Given the description of an element on the screen output the (x, y) to click on. 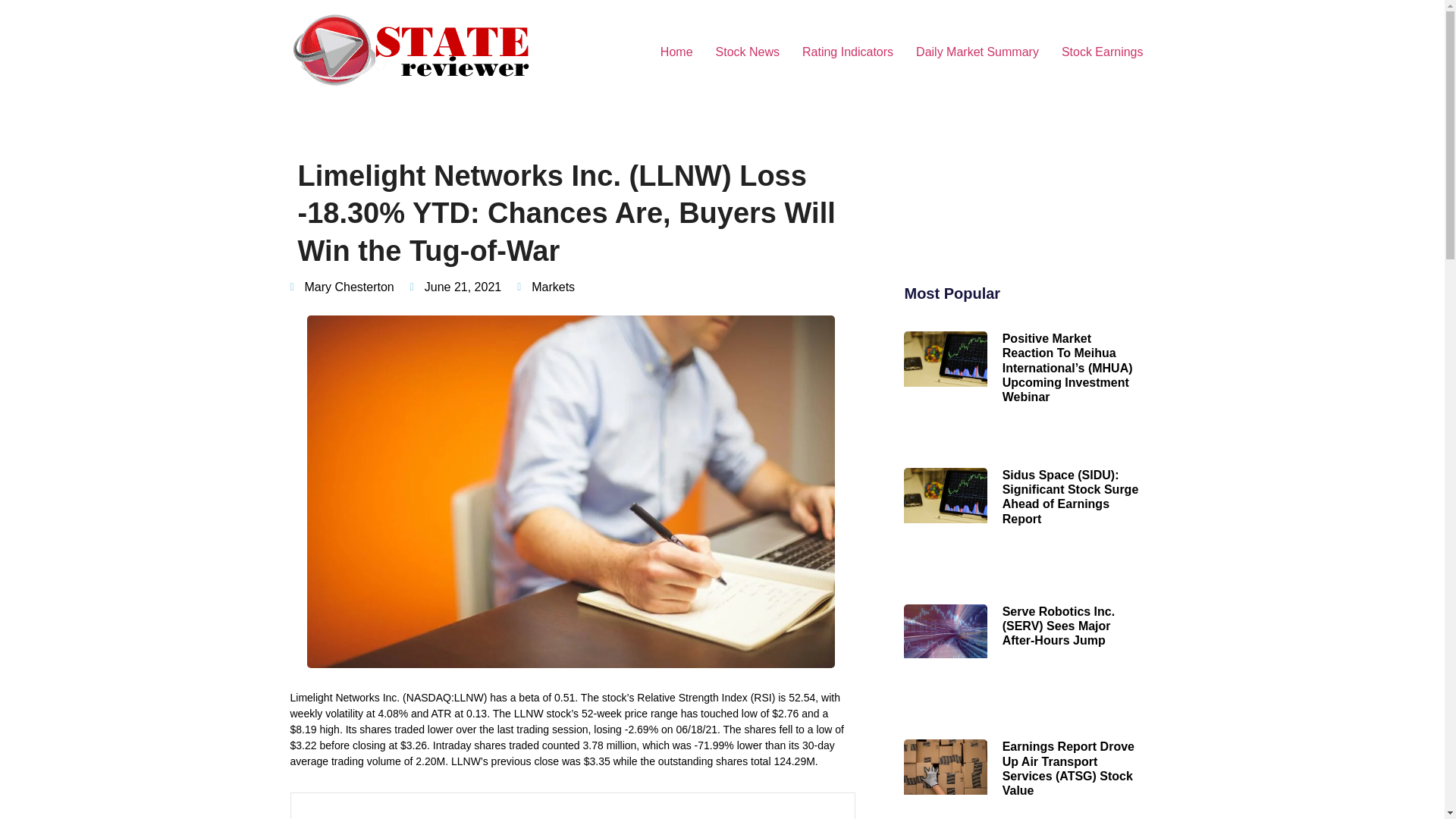
Markets (553, 286)
Mary Chesterton (341, 287)
June 21, 2021 (455, 287)
Stock News (747, 51)
Rating Indicators (847, 51)
Stock Earnings (1101, 51)
Home (676, 51)
Daily Market Summary (976, 51)
